Given the description of an element on the screen output the (x, y) to click on. 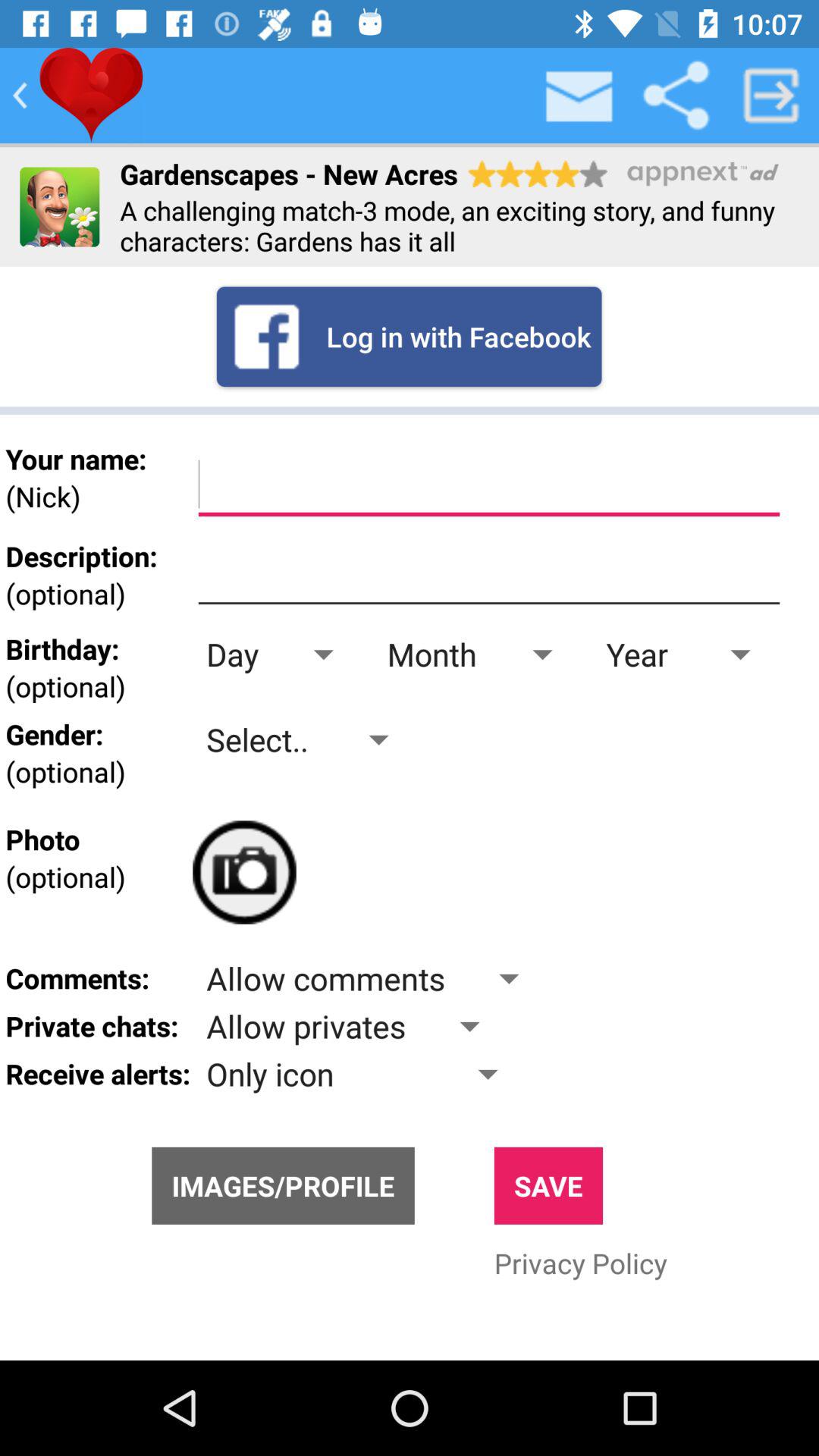
share information (675, 95)
